Given the description of an element on the screen output the (x, y) to click on. 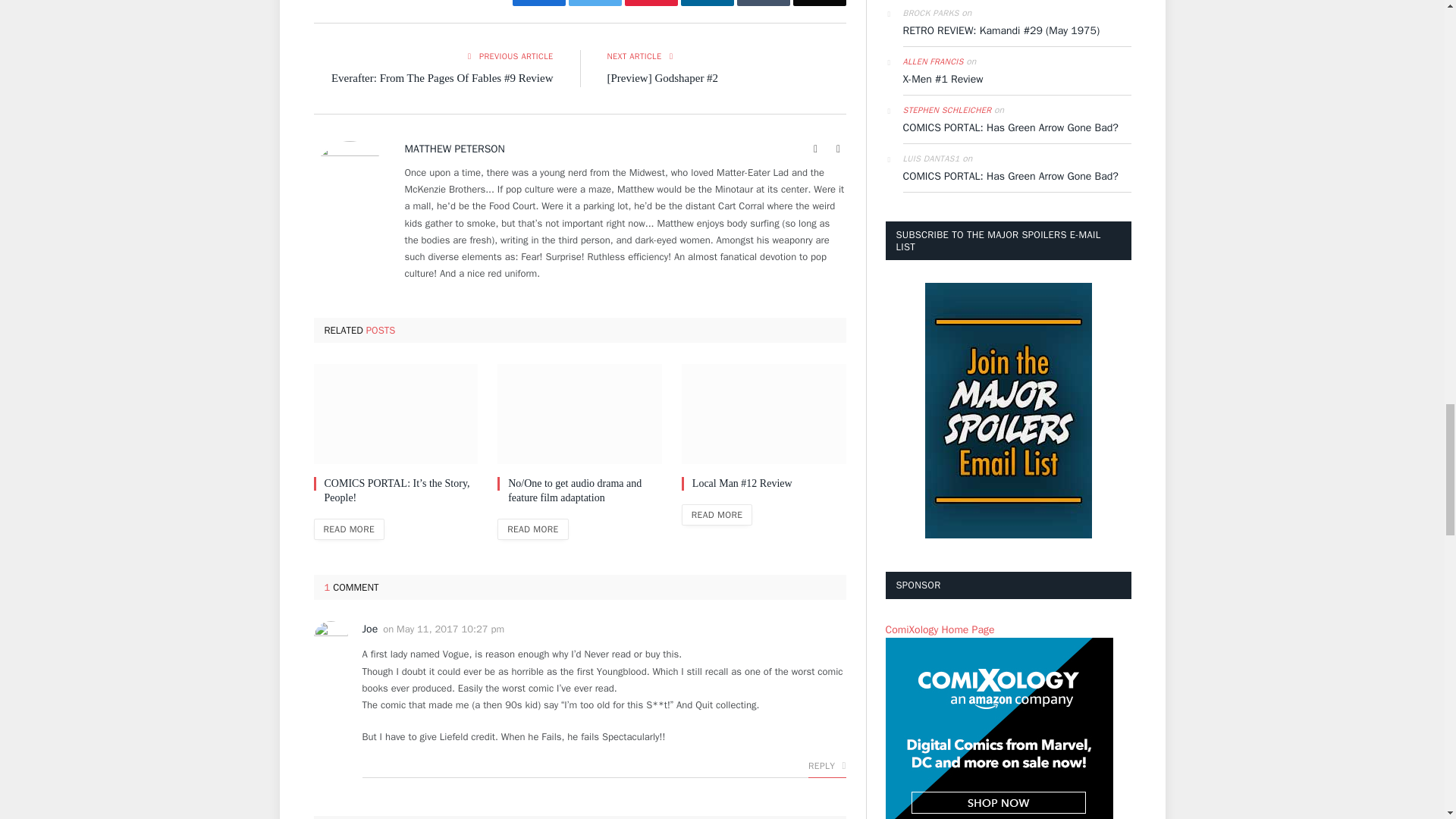
Share on LinkedIn (707, 2)
Share on Pinterest (651, 2)
Share on Twitter (595, 2)
Share on Facebook (539, 2)
